Given the description of an element on the screen output the (x, y) to click on. 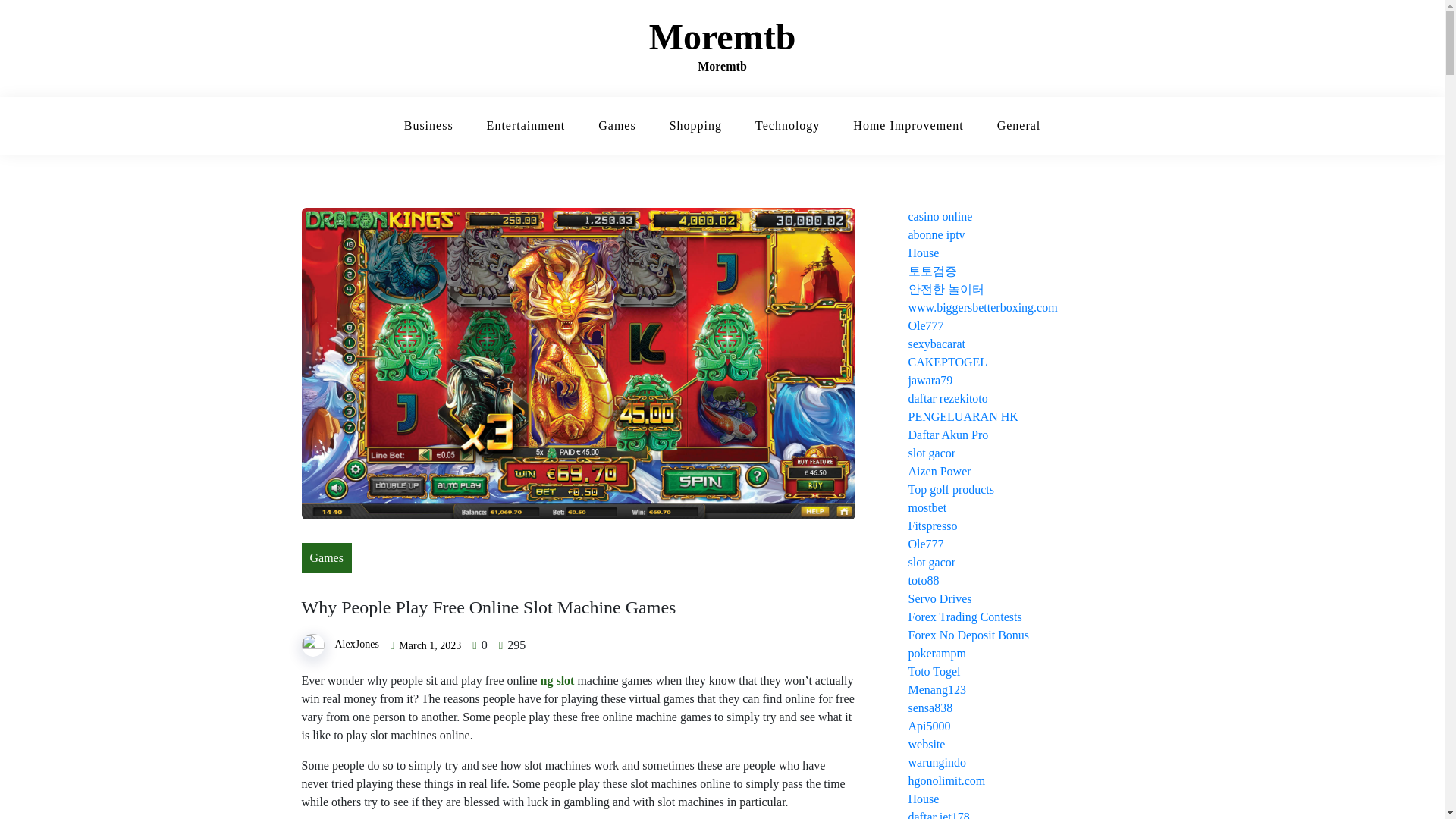
PENGELUARAN HK (962, 416)
Shopping (694, 125)
Moremtb (722, 36)
Games (616, 125)
Technology (786, 125)
sexybacarat (937, 343)
Moremtb (722, 36)
slot gacor (932, 452)
AlexJones (356, 644)
House (923, 252)
jawara79 (930, 379)
abonne iptv (936, 234)
ng slot (557, 680)
casino online (940, 215)
Business (428, 125)
